Given the description of an element on the screen output the (x, y) to click on. 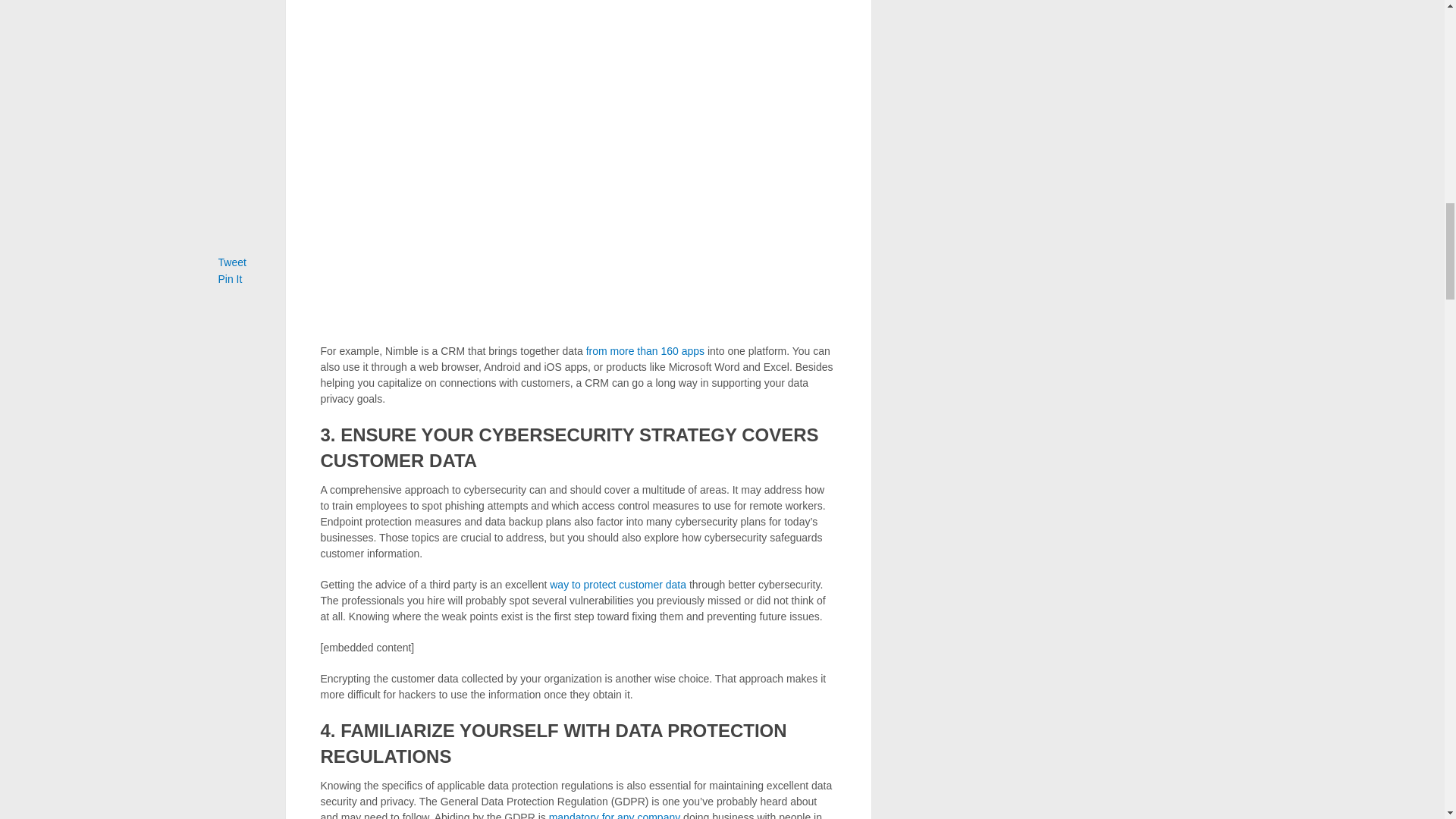
way to protect customer data (617, 584)
from more than 160 apps (645, 350)
mandatory for any company (614, 815)
